Given the description of an element on the screen output the (x, y) to click on. 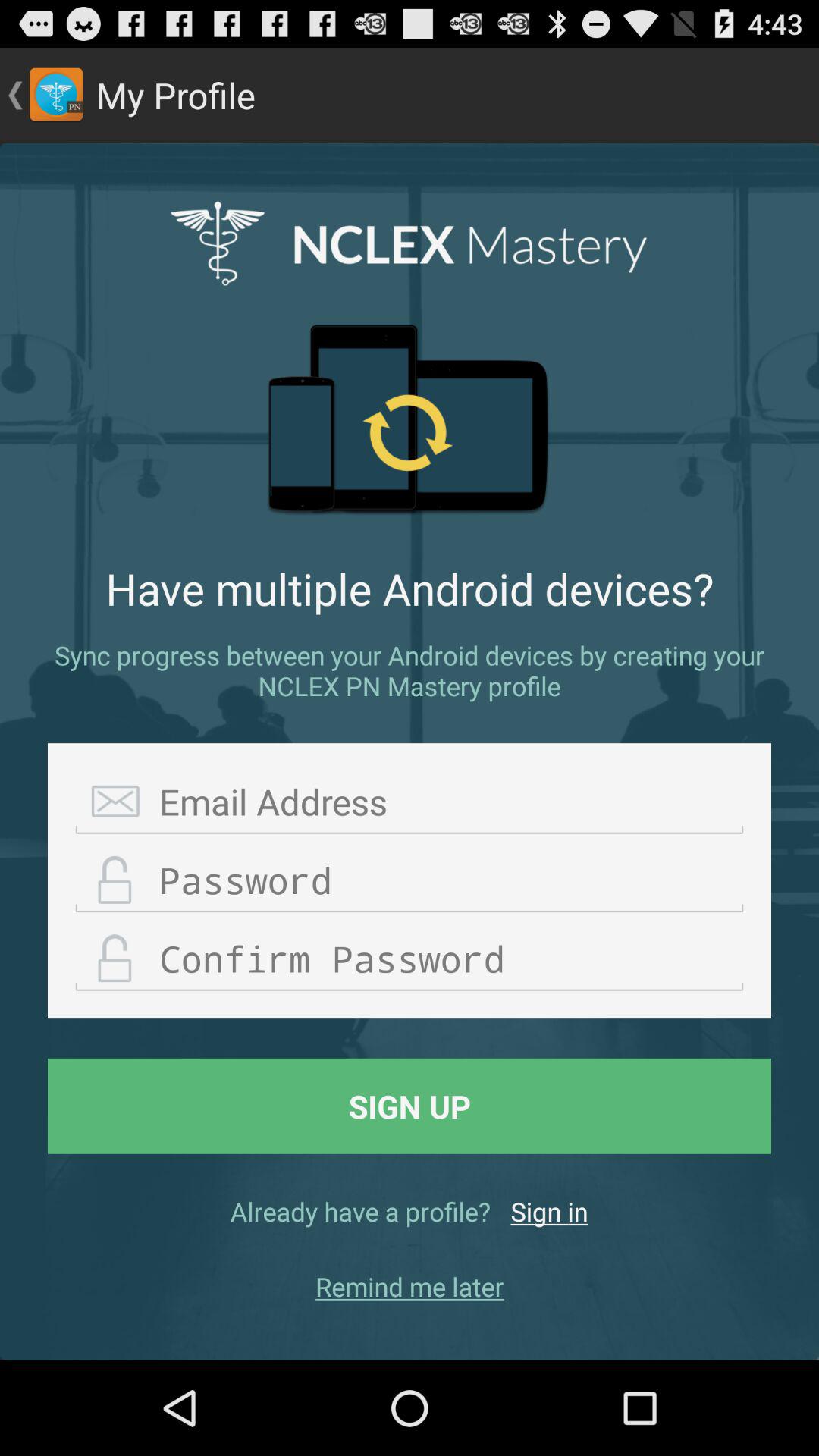
confirm password (409, 959)
